Given the description of an element on the screen output the (x, y) to click on. 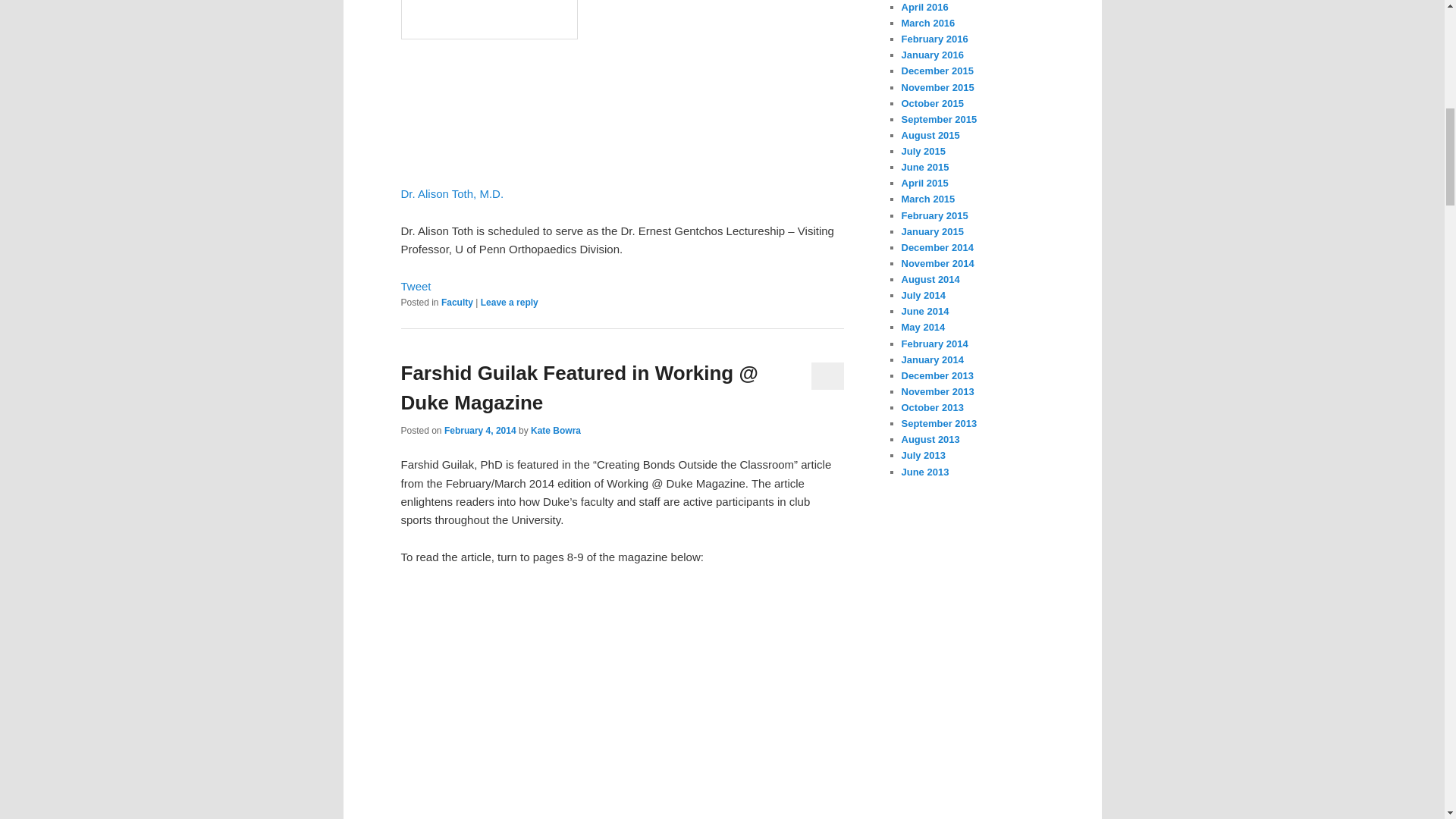
Faculty (457, 302)
Dr. Alison Toth, M.D. (451, 193)
2:48 pm (480, 430)
Kate Bowra (555, 430)
February 4, 2014 (480, 430)
Leave a reply (509, 302)
Tweet (415, 286)
View all posts by Kate Bowra (555, 430)
